Given the description of an element on the screen output the (x, y) to click on. 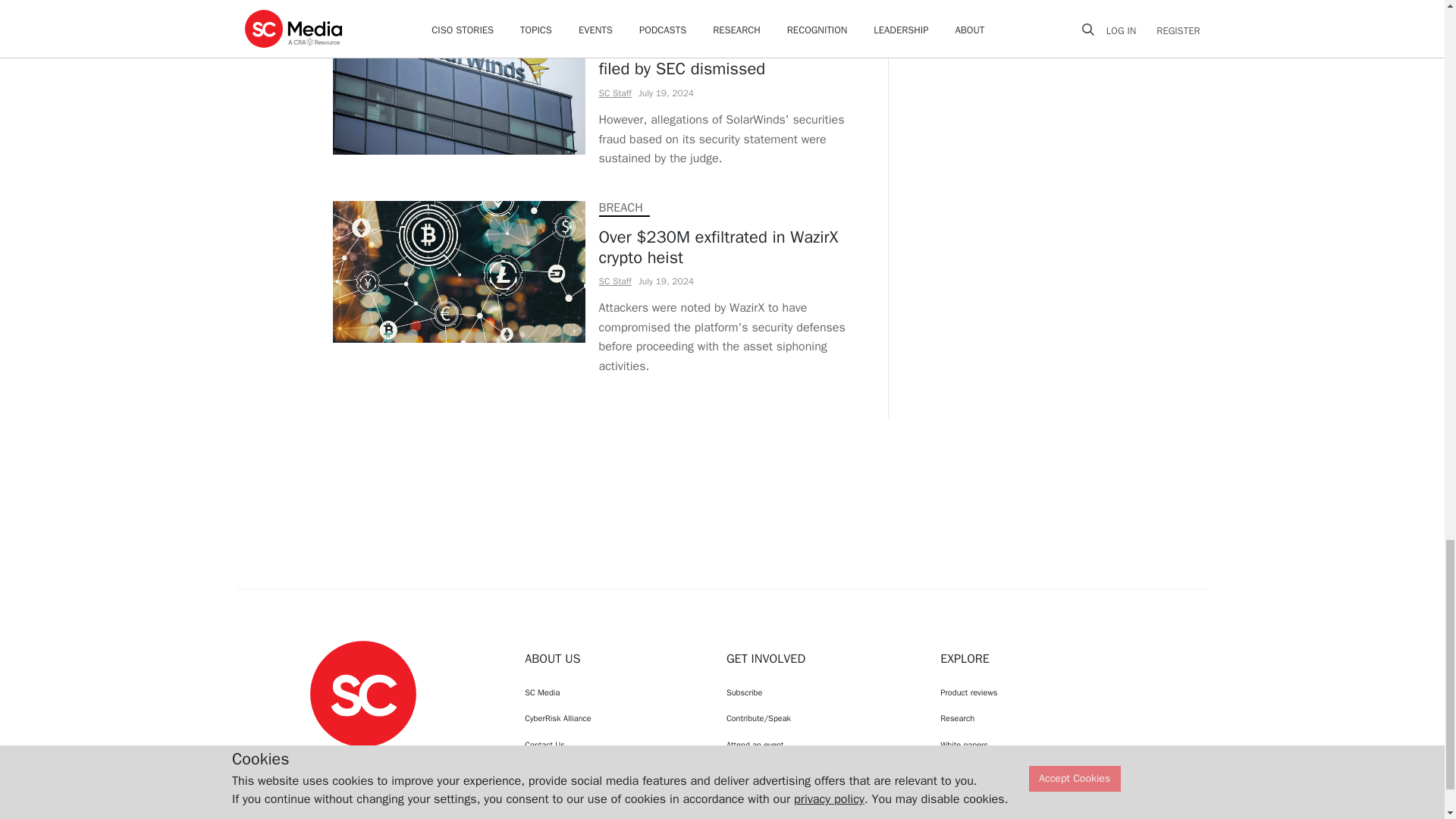
SCMagazine on Twitter (362, 760)
SC Staff (614, 281)
SC Staff (614, 92)
SC Media (362, 693)
SCMagazine on Facebook (324, 760)
BREACH (620, 207)
Most of SolarWinds hacking suit filed by SEC dismissed (729, 59)
SC Media (612, 692)
GOVERNANCE, RISK AND COMPLIANCE (702, 19)
SCMagazine on LinkedIn (401, 760)
